Given the description of an element on the screen output the (x, y) to click on. 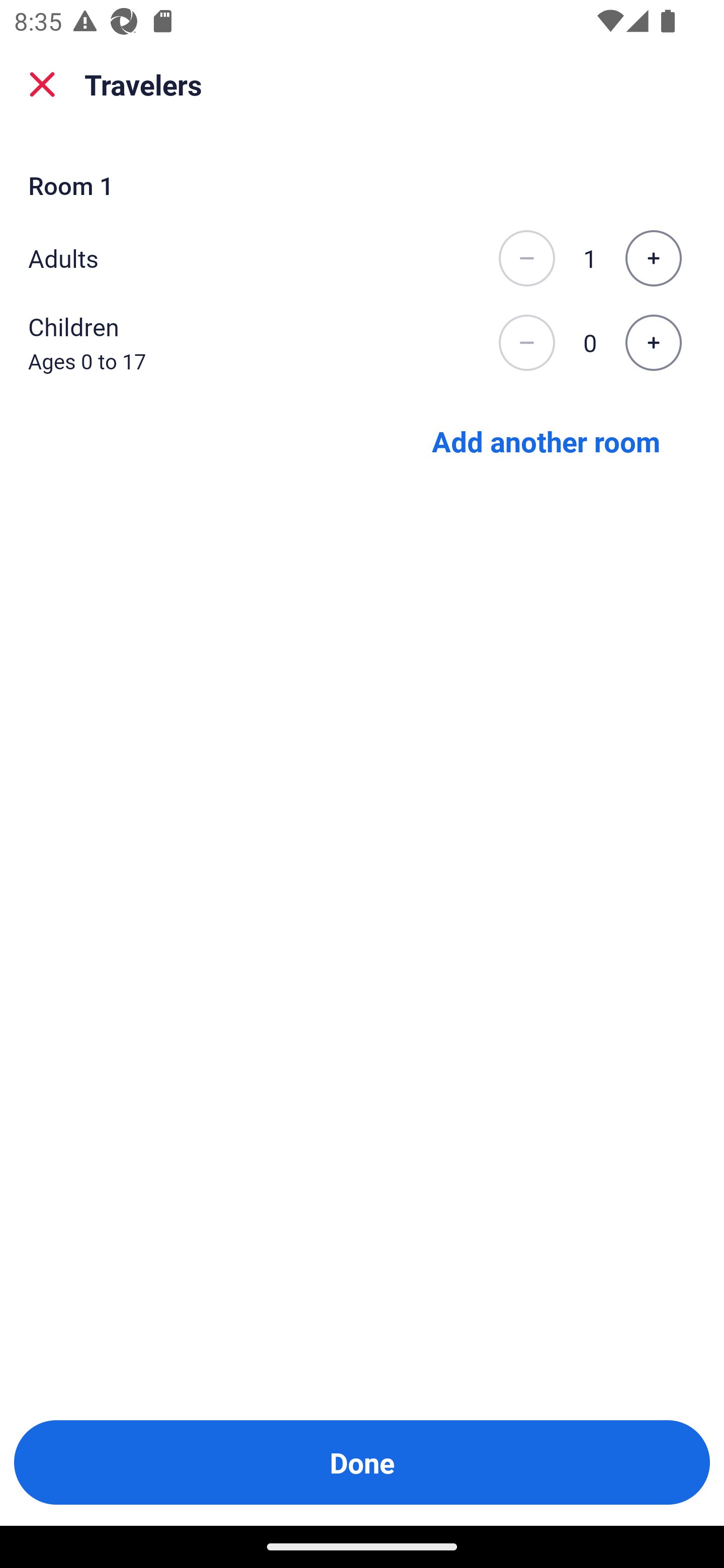
close (42, 84)
Decrease the number of adults (526, 258)
Increase the number of adults (653, 258)
Decrease the number of children (526, 343)
Increase the number of children (653, 343)
Add another room (545, 440)
Done (361, 1462)
